Given the description of an element on the screen output the (x, y) to click on. 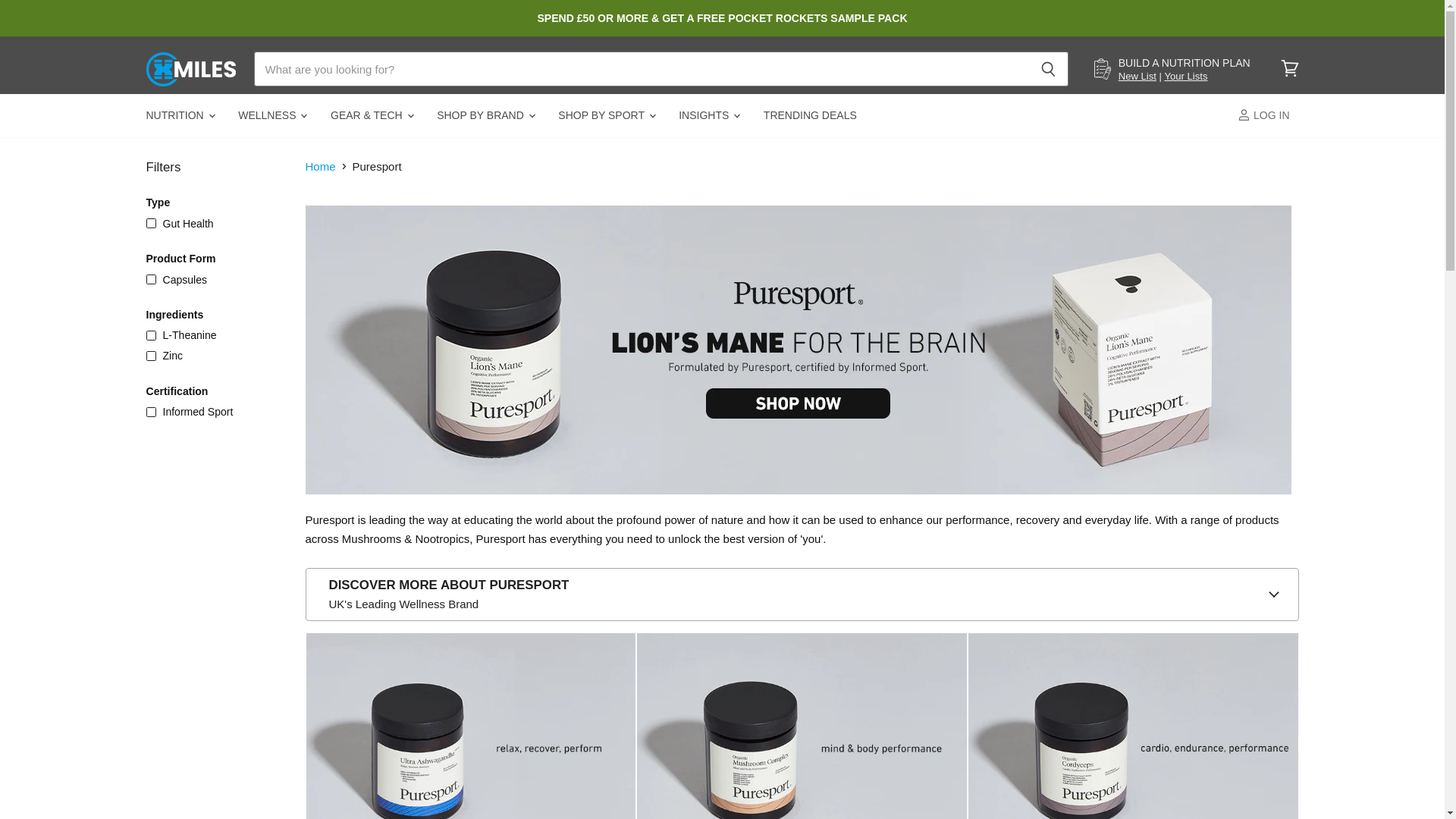
Your Lists (1185, 75)
NUTRITION (179, 115)
ACCOUNT ICON (1243, 114)
New List (1137, 75)
Lion's Mane For The Brain (797, 501)
View cart (1289, 68)
